Given the description of an element on the screen output the (x, y) to click on. 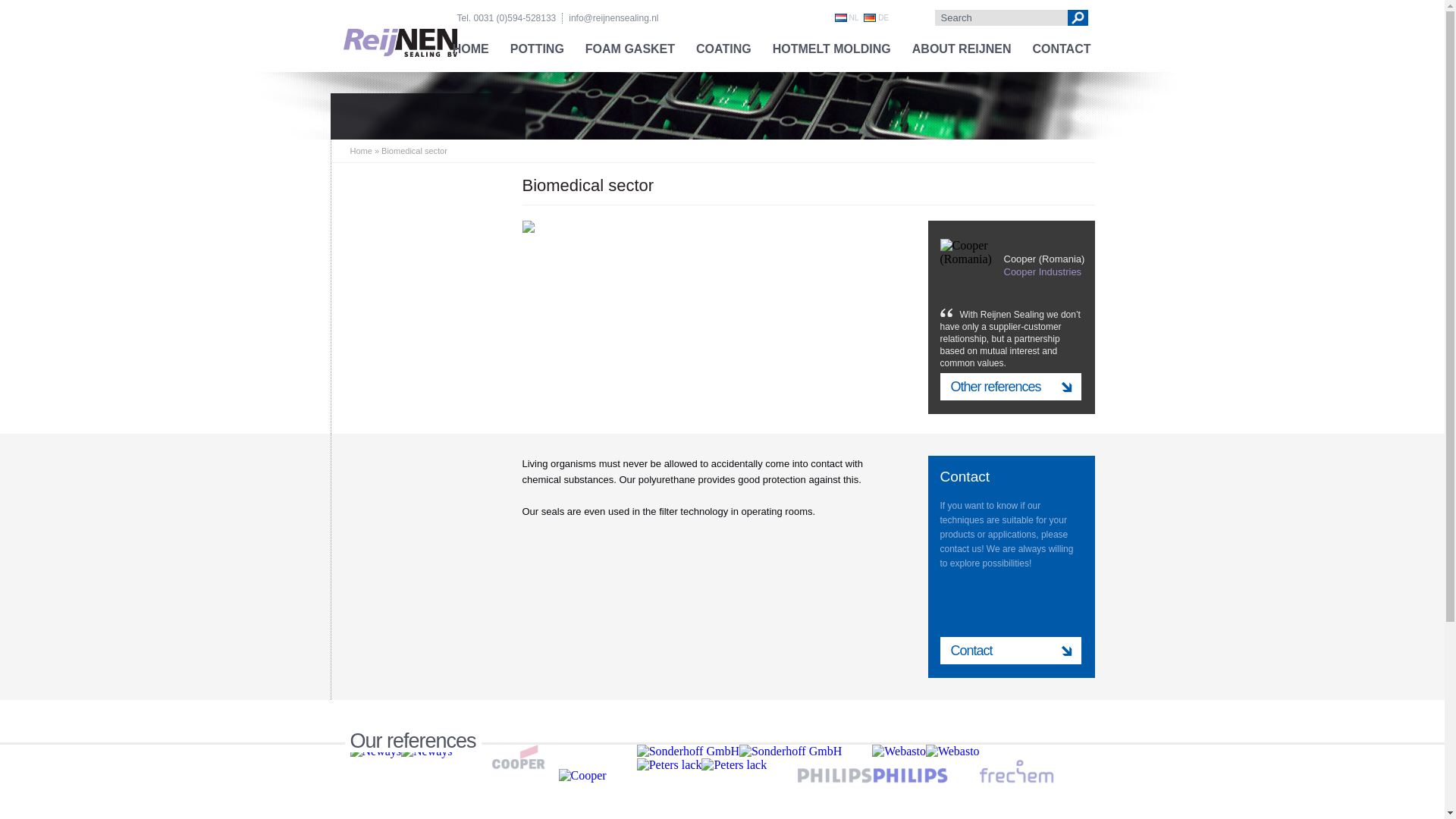
Search (1077, 17)
CONTACT (1061, 48)
Home (361, 150)
POTTING (537, 48)
Biomedical sector (413, 150)
HOME (470, 48)
DE (878, 17)
Contact (1010, 650)
COATING (723, 48)
NL (848, 17)
